Given the description of an element on the screen output the (x, y) to click on. 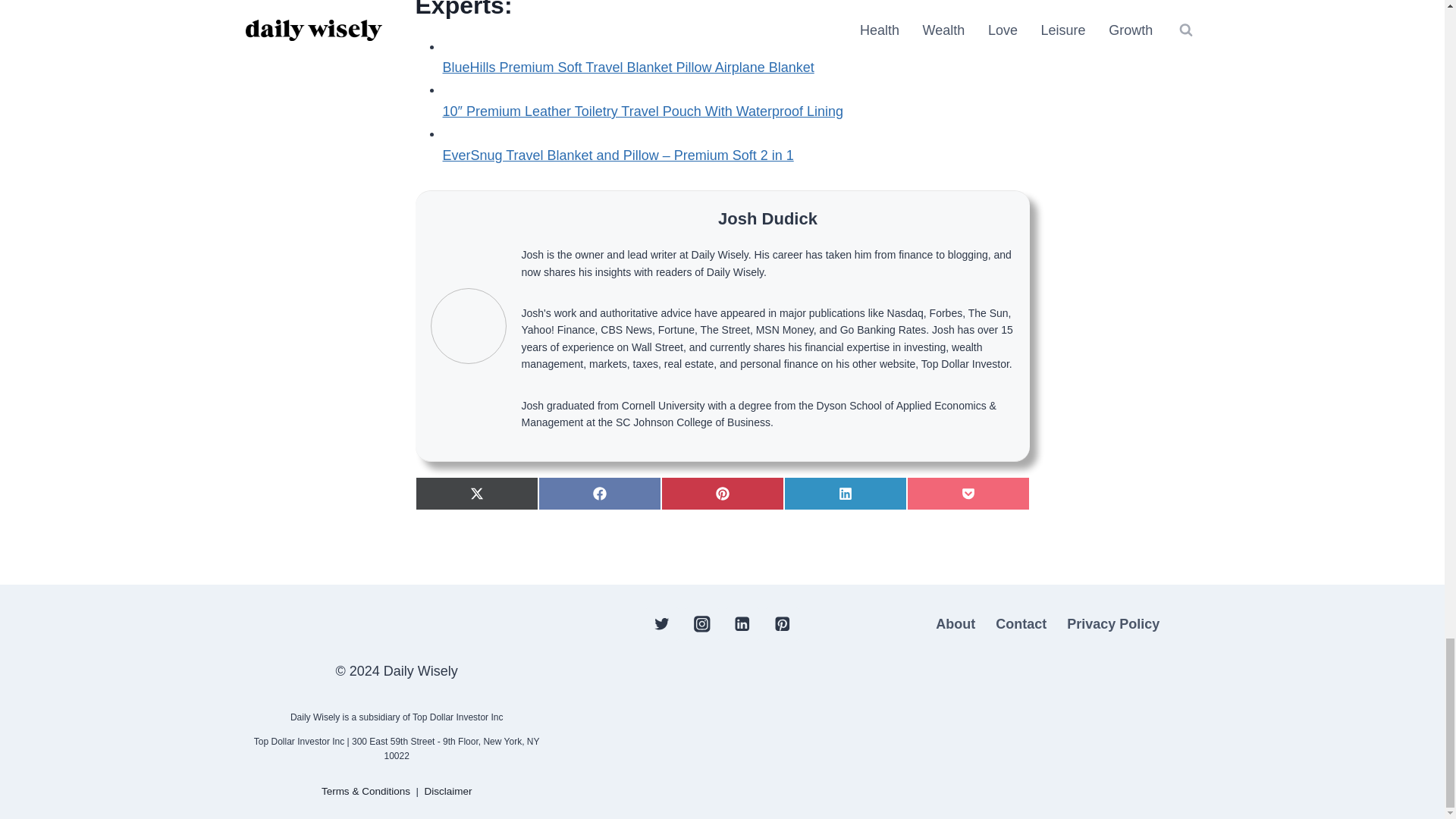
Share on LinkedIn (845, 493)
About (955, 624)
Privacy Policy (1113, 624)
Share on Pinterest (722, 493)
Share on Facebook (599, 493)
Contact (1021, 624)
Share on Pocket (968, 493)
